Given the description of an element on the screen output the (x, y) to click on. 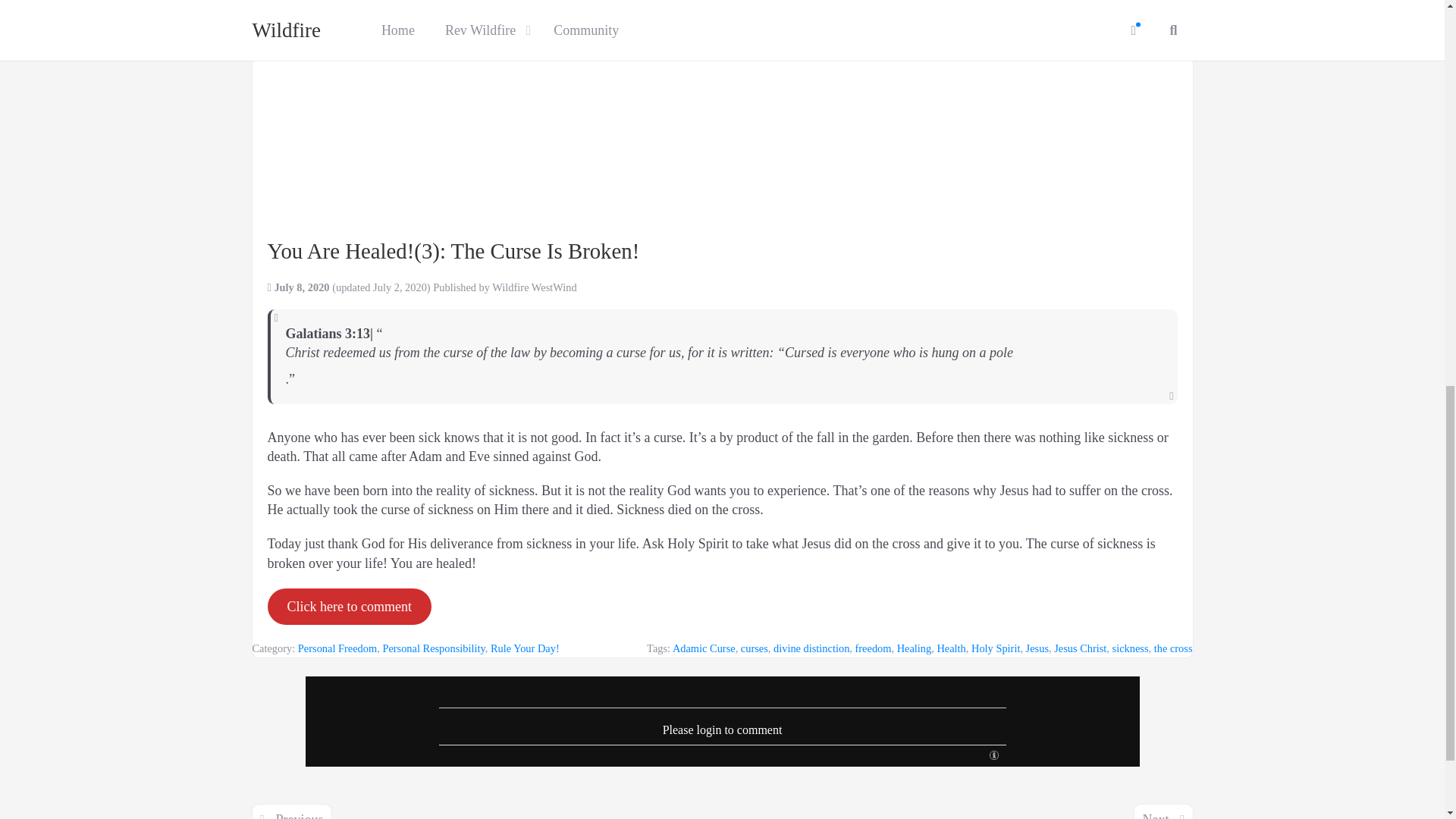
sickness (1130, 648)
freedom (873, 648)
Wildfire WestWind (534, 287)
Holy Spirit (995, 648)
the cross (1173, 648)
Personal Freedom (337, 648)
Personal Responsibility (432, 648)
Healing (913, 648)
curses (754, 648)
Adamic Curse (703, 648)
